Given the description of an element on the screen output the (x, y) to click on. 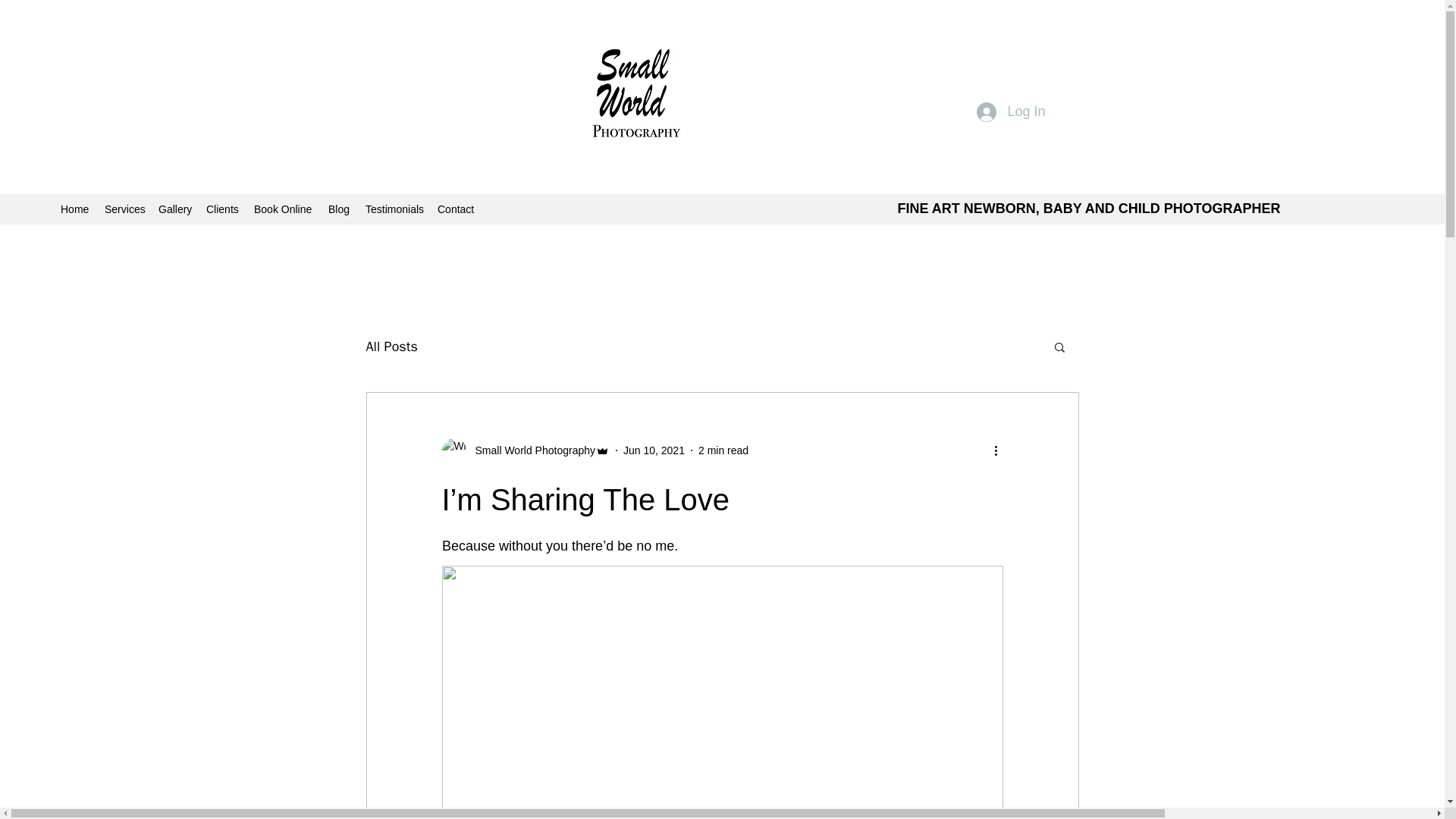
Contact (456, 209)
2 min read (723, 450)
Services (124, 209)
Small World Photography (524, 450)
Book Online (283, 209)
Testimonials (393, 209)
Blog (339, 209)
Home (74, 209)
Gallery (174, 209)
Log In (1010, 111)
